Given the description of an element on the screen output the (x, y) to click on. 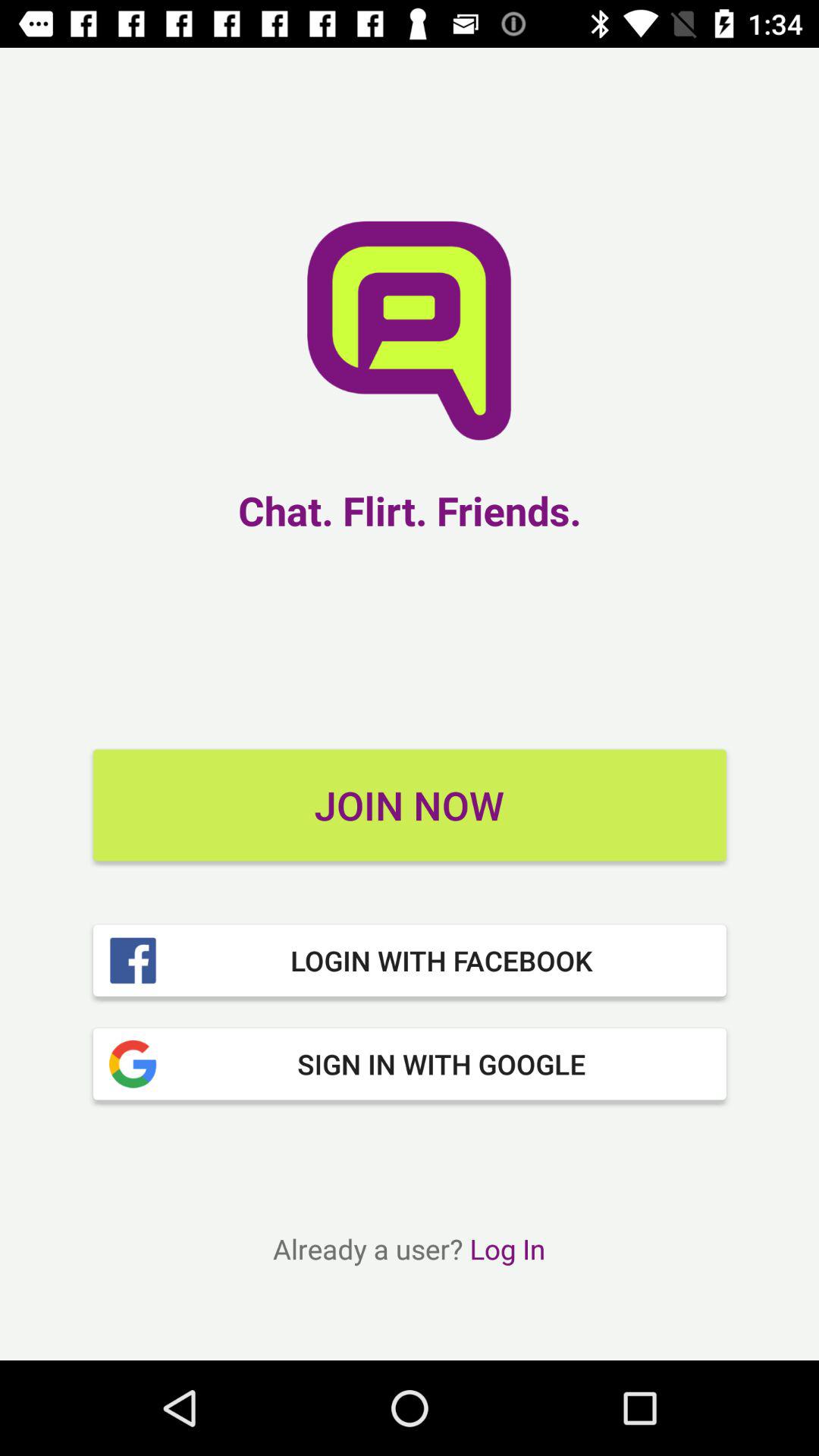
flip until login with facebook icon (409, 960)
